Given the description of an element on the screen output the (x, y) to click on. 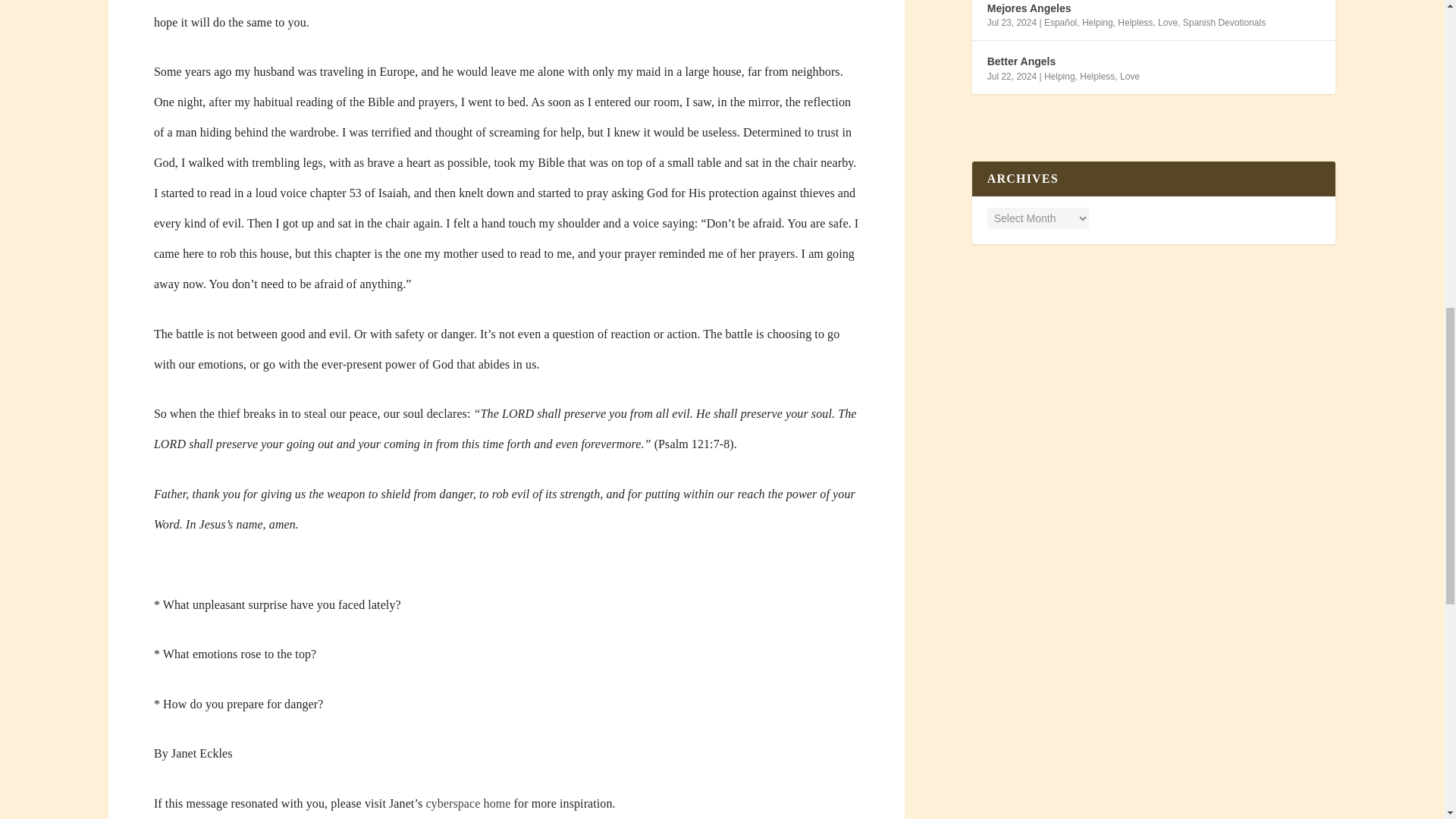
Love (1167, 22)
Mejores Angeles (1029, 8)
Helpless (1135, 22)
Spanish Devotionals (1223, 22)
Helpless (1097, 76)
Love (1129, 76)
Helping (1059, 76)
Better Angels (1022, 61)
Helping (1097, 22)
cyberspace home (468, 802)
